Given the description of an element on the screen output the (x, y) to click on. 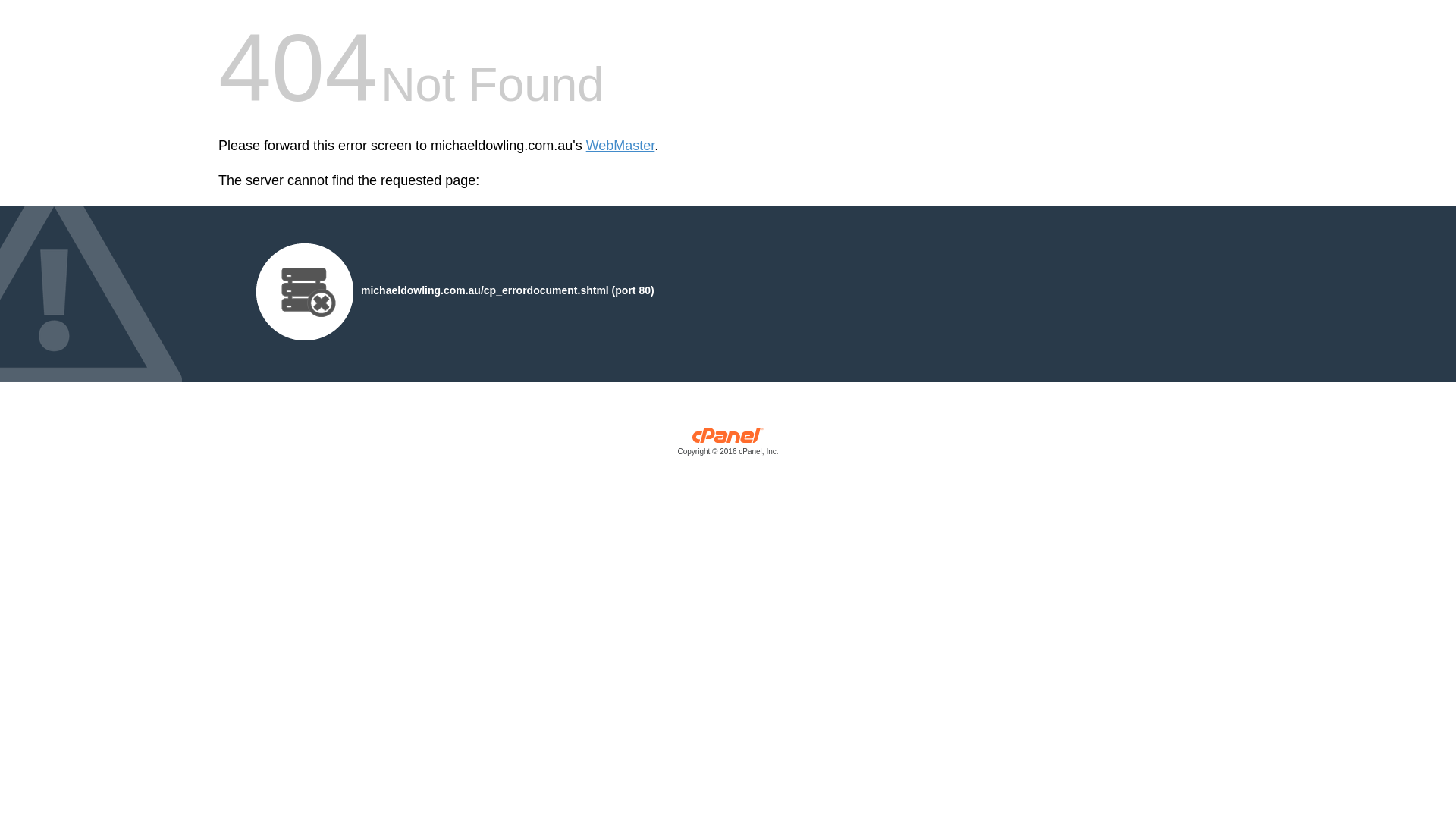
WebMaster Element type: text (620, 145)
